Given the description of an element on the screen output the (x, y) to click on. 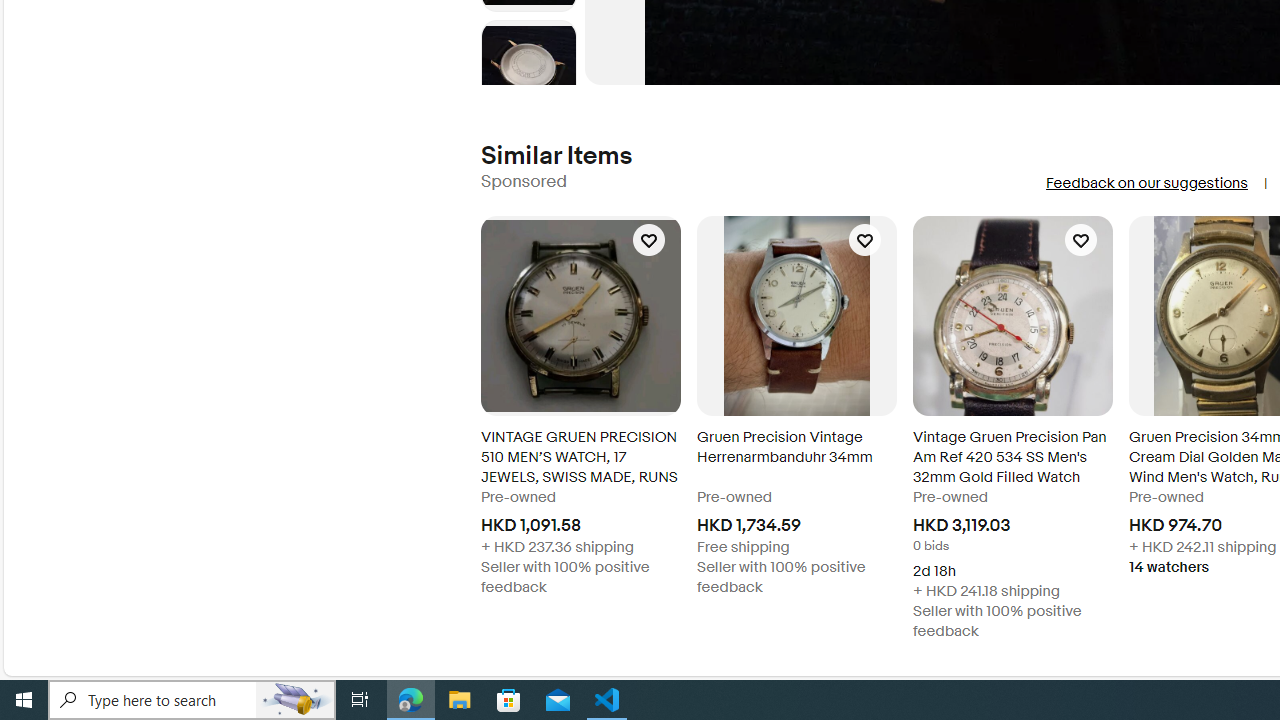
Picture 6 of 8 (528, 67)
Feedback on our suggestions (1146, 183)
Picture 6 of 8 (528, 67)
Next image - Item images thumbnails (528, 80)
